Given the description of an element on the screen output the (x, y) to click on. 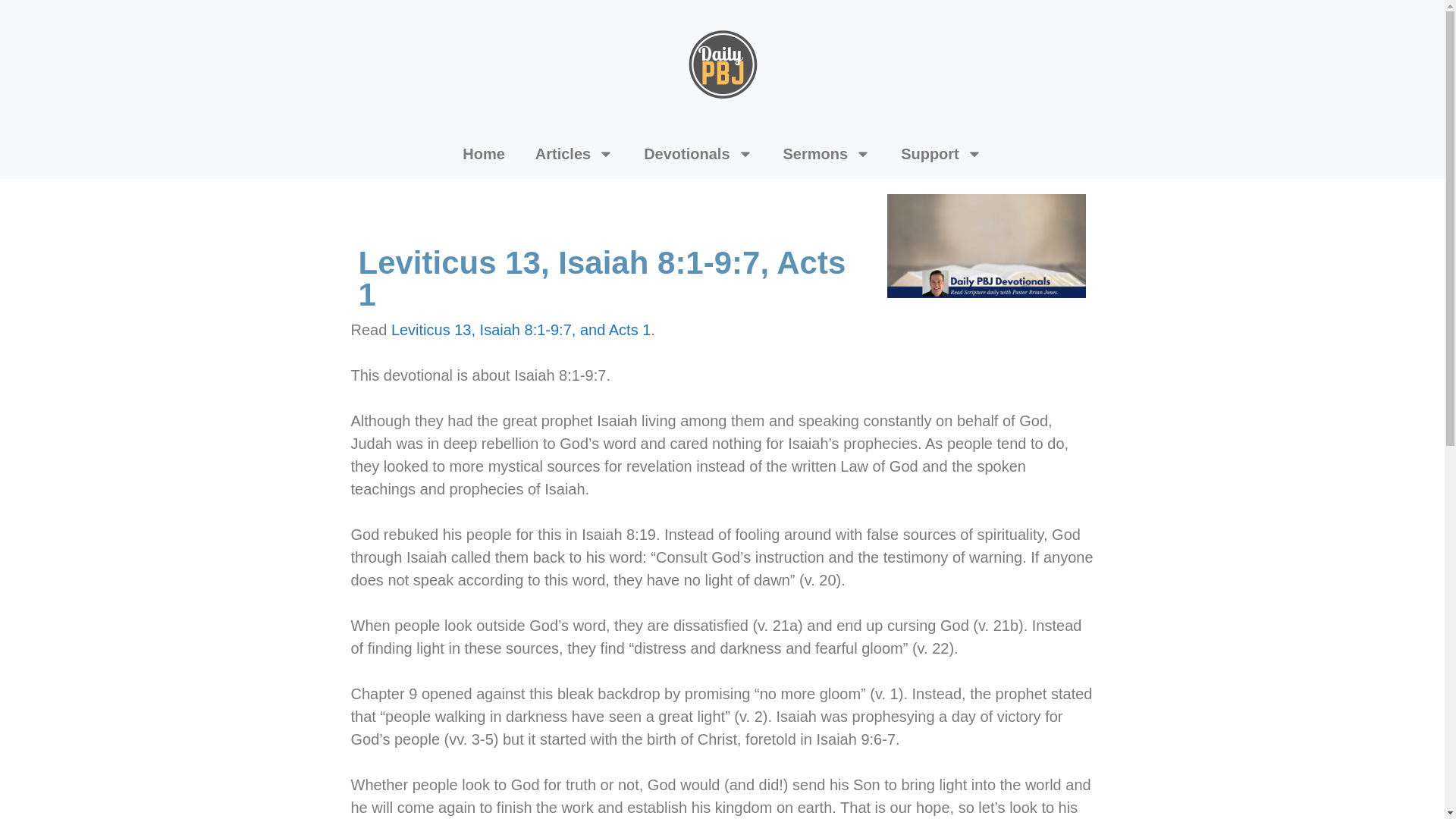
Home (482, 153)
Support (941, 153)
Leviticus 13, Isaiah 8:1-9:7, and Acts 1 (520, 329)
Devotionals (697, 153)
Articles (573, 153)
Sermons (827, 153)
